Given the description of an element on the screen output the (x, y) to click on. 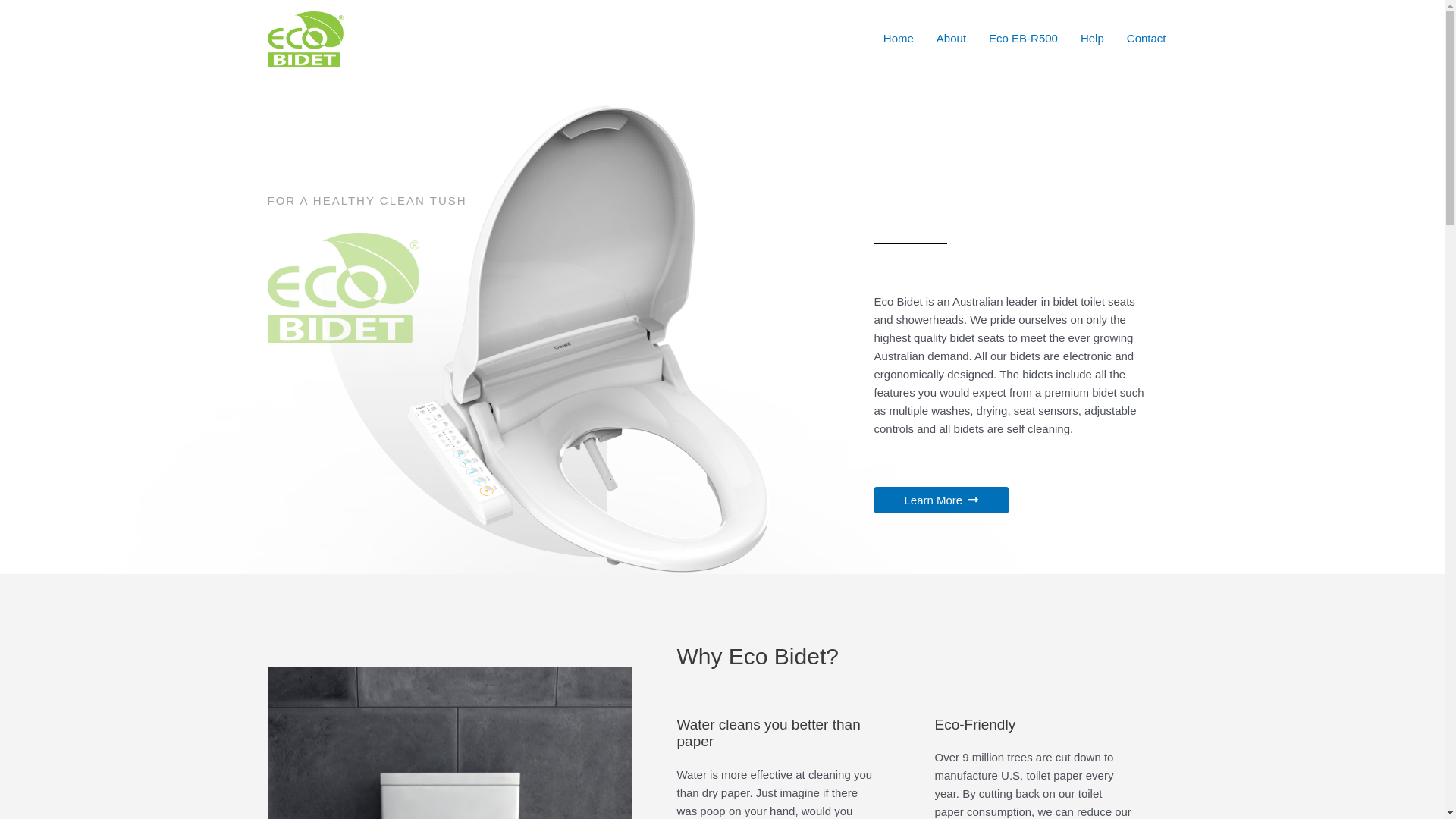
Learn More Element type: text (940, 499)
Help Element type: text (1092, 38)
Contact Element type: text (1146, 38)
Home Element type: text (898, 38)
Eco-Bidet-Logo-R-01 Element type: hover (342, 287)
About Element type: text (951, 38)
Eco EB-R500 Element type: text (1023, 38)
